Given the description of an element on the screen output the (x, y) to click on. 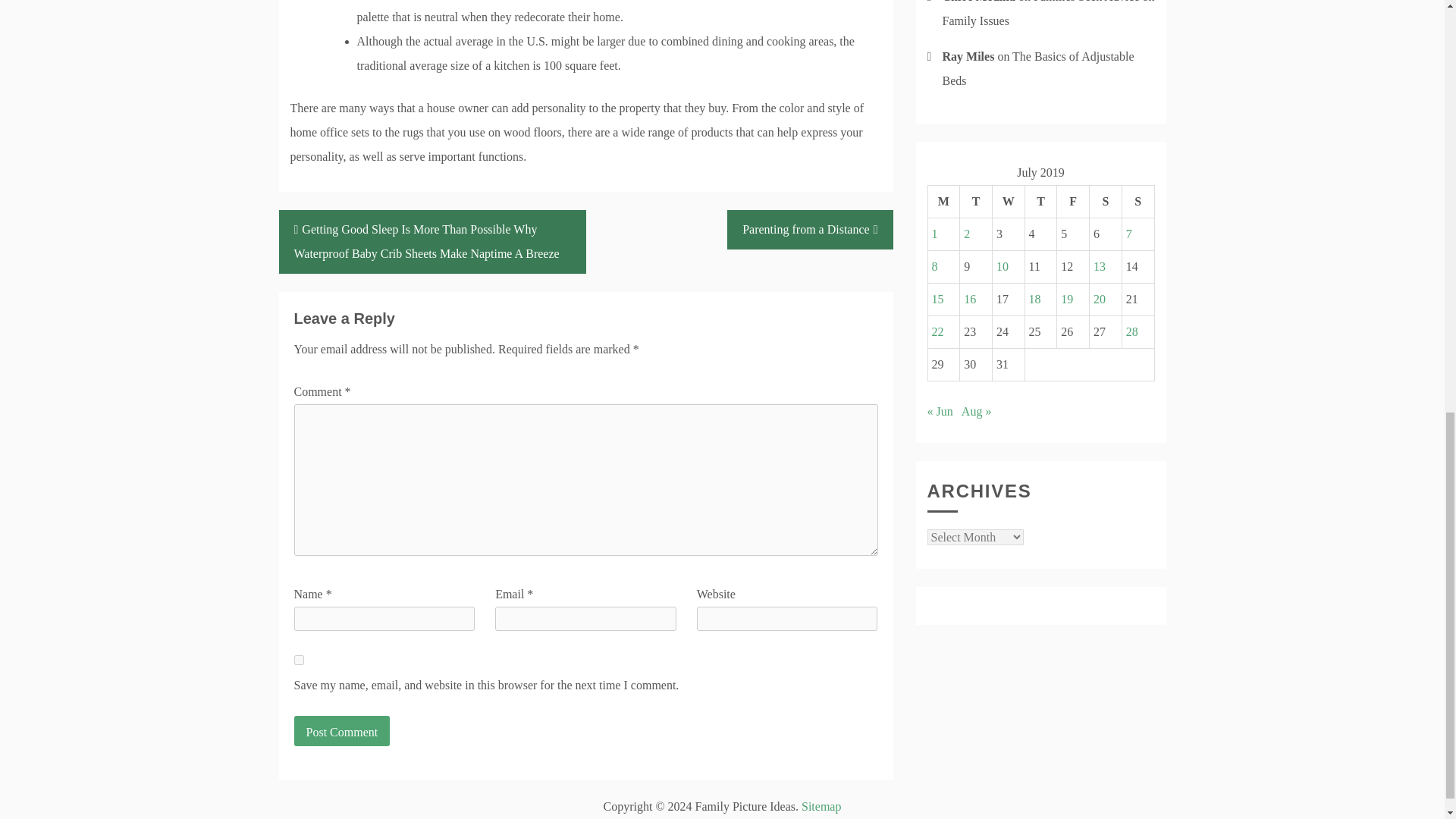
yes (299, 660)
Parenting from a Distance (809, 229)
Families Seek Advice on Family Issues (1048, 13)
Post Comment (342, 730)
The Basics of Adjustable Beds (1038, 67)
20 (1099, 298)
Friday (1073, 201)
13 (1099, 266)
Post Comment (342, 730)
Thursday (1041, 201)
16 (969, 298)
Monday (943, 201)
28 (1131, 331)
Wednesday (1008, 201)
